Given the description of an element on the screen output the (x, y) to click on. 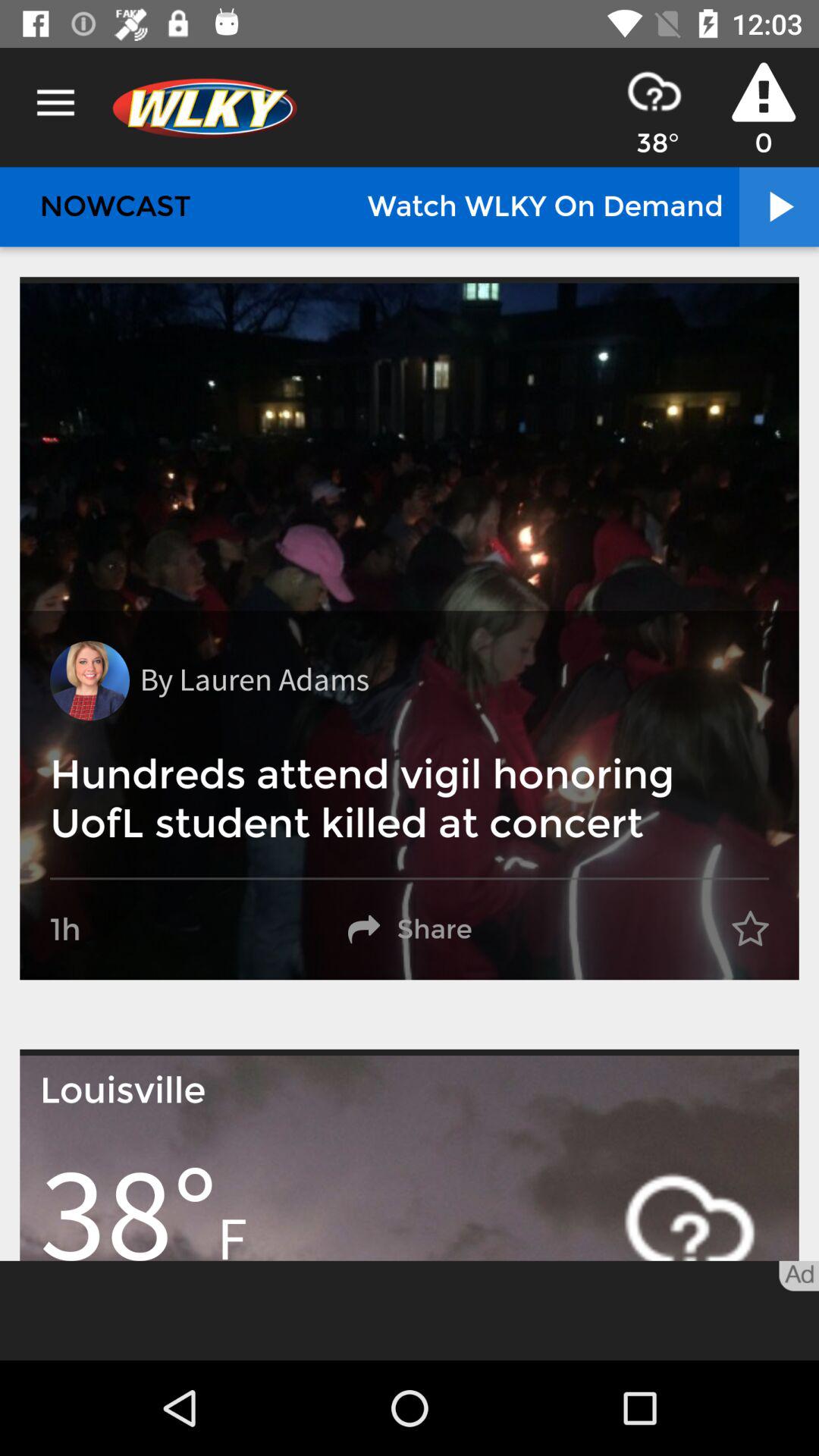
tap item next to share icon (750, 929)
